Given the description of an element on the screen output the (x, y) to click on. 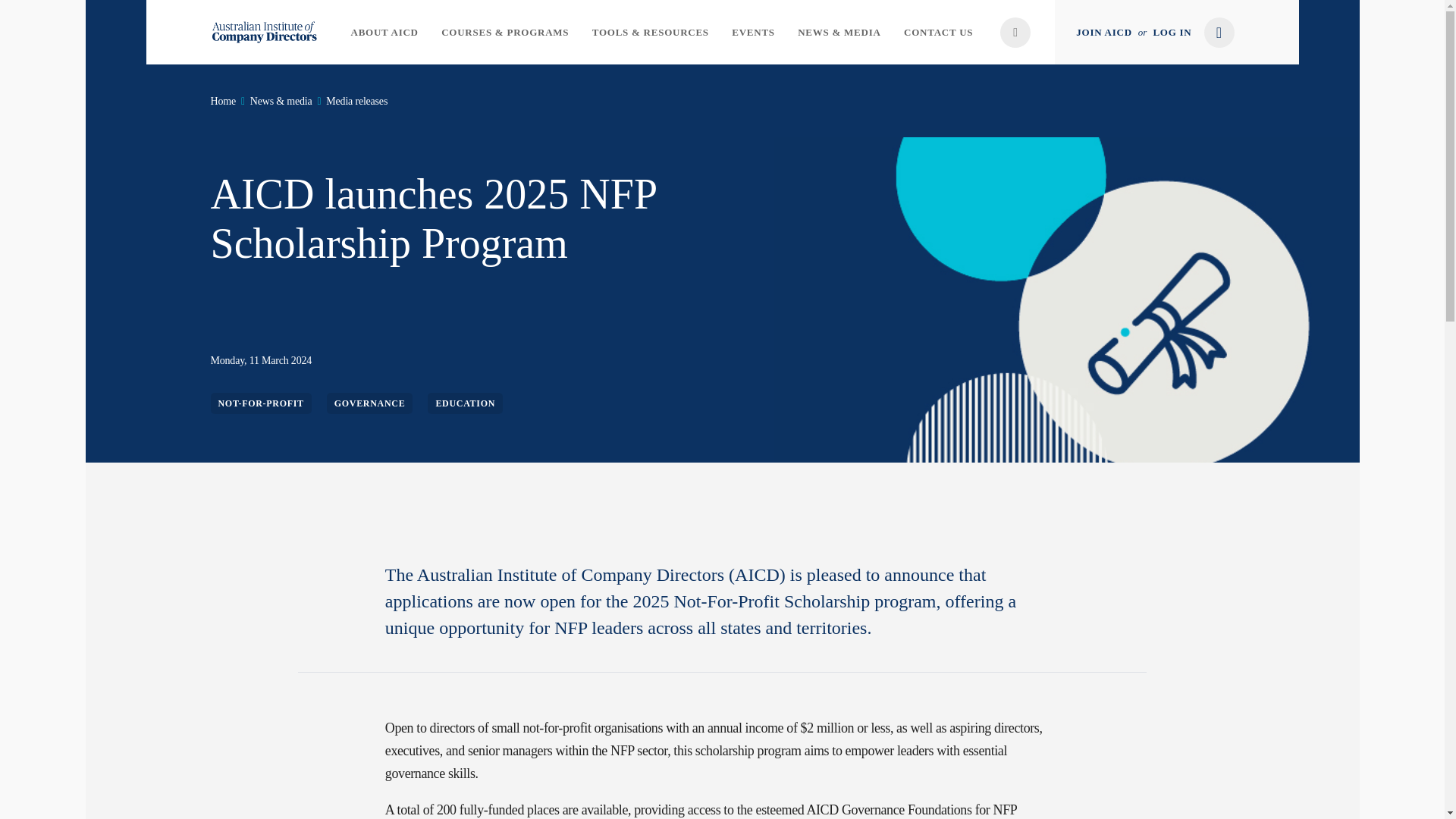
ABOUT AICD (383, 32)
